Given the description of an element on the screen output the (x, y) to click on. 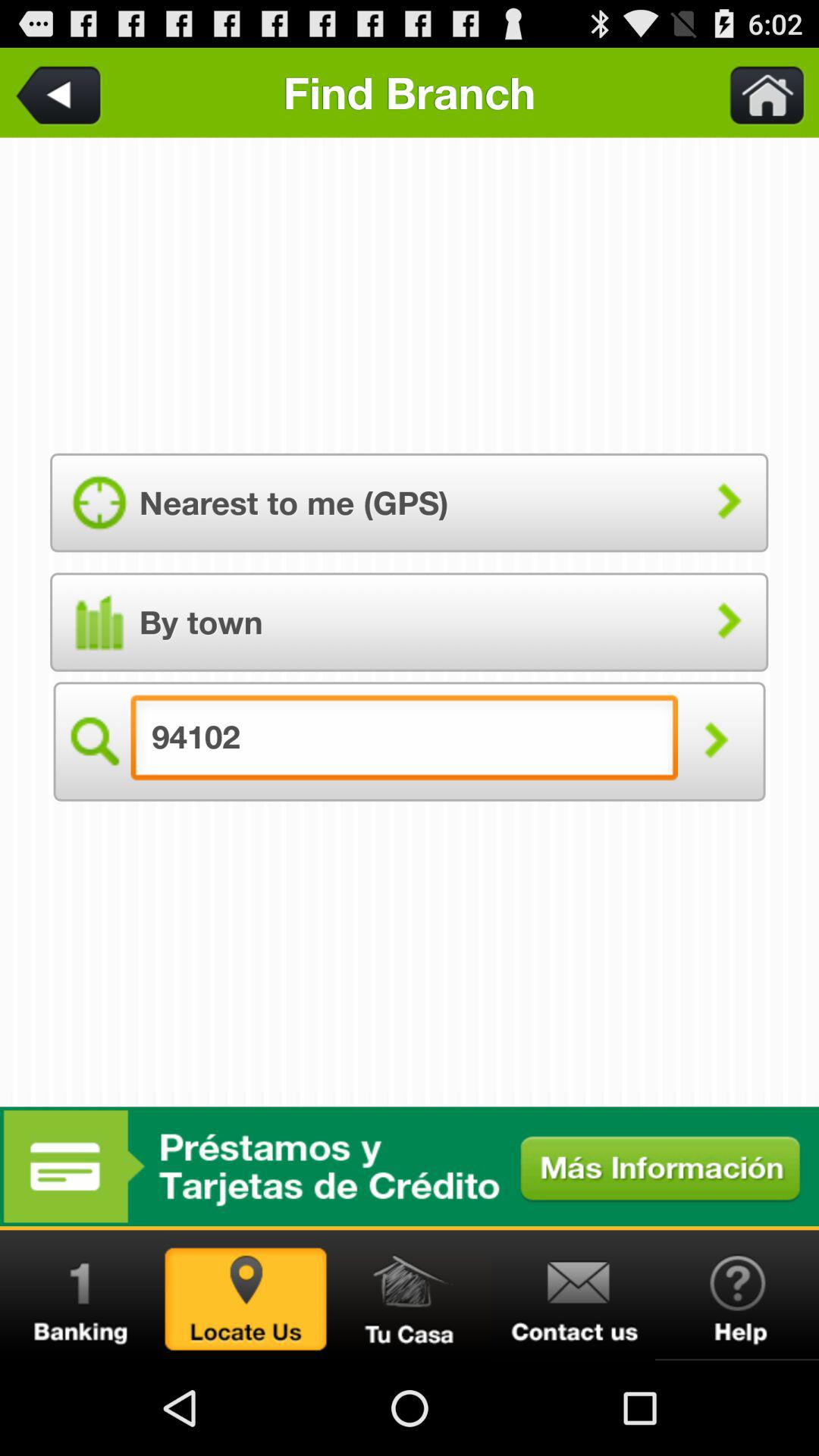
enter zip code (92, 741)
